Given the description of an element on the screen output the (x, y) to click on. 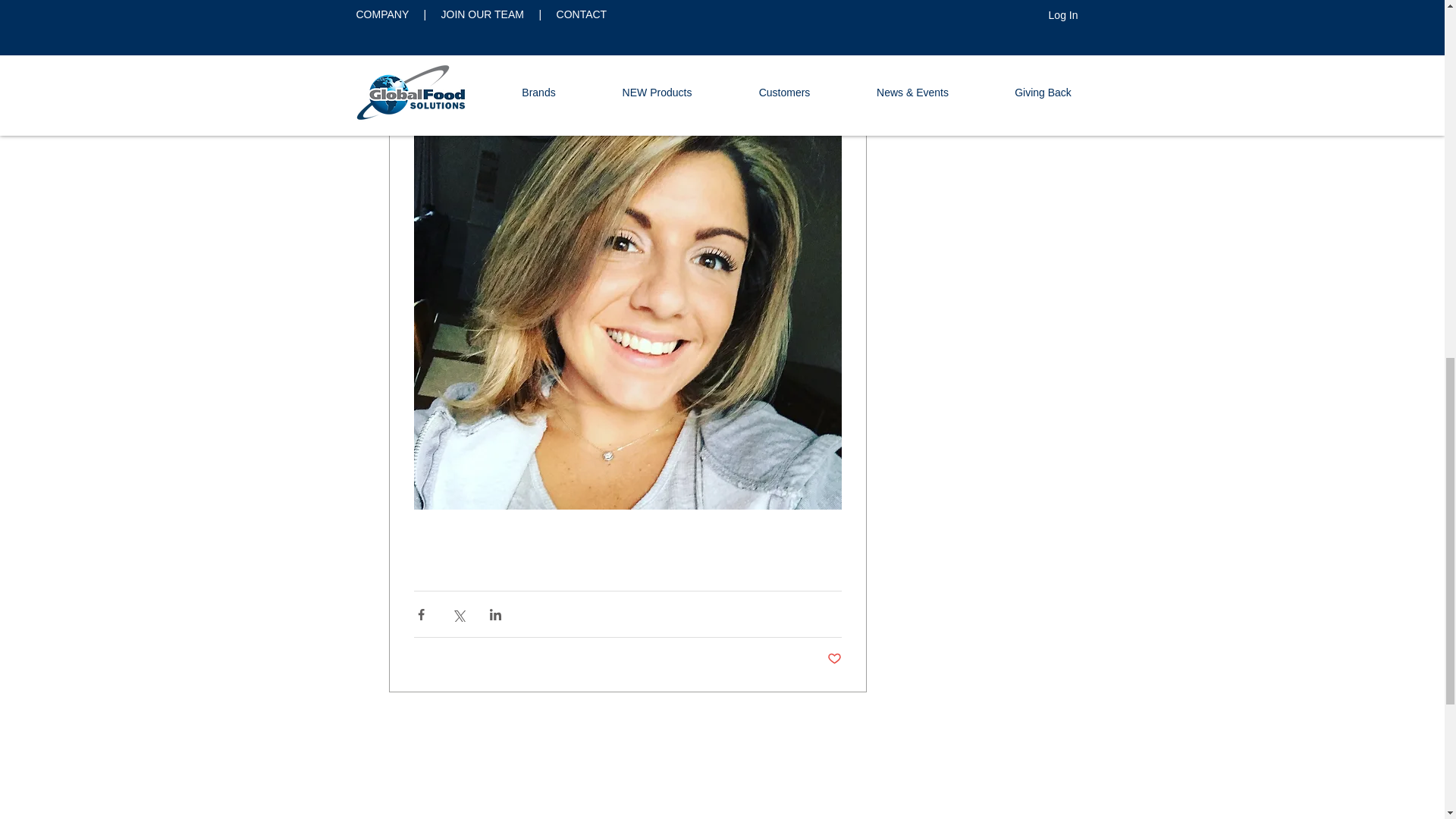
Post not marked as liked (834, 659)
